Given the description of an element on the screen output the (x, y) to click on. 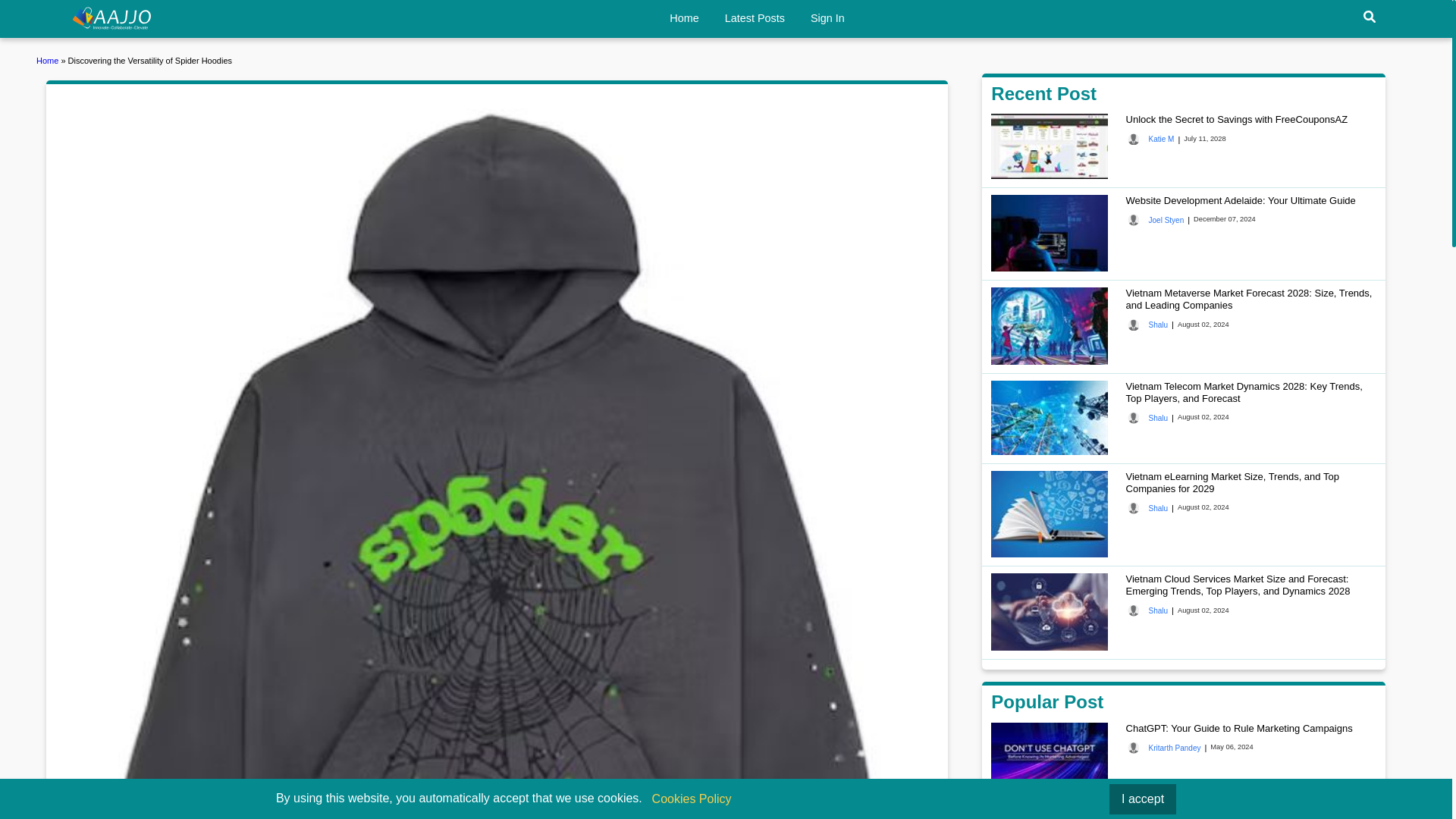
Home (683, 18)
Latest Posts (754, 18)
Shalu (1147, 324)
Katie M (1149, 139)
Home (111, 17)
Home (48, 60)
Joel Styen (1155, 219)
Blog  Home (48, 60)
Website Development Adelaide: Your Ultimate Guide (1240, 200)
Shalu (1147, 507)
ChatGPT: Your Guide to Rule Marketing Campaigns (1238, 727)
Sign In (827, 18)
